Given the description of an element on the screen output the (x, y) to click on. 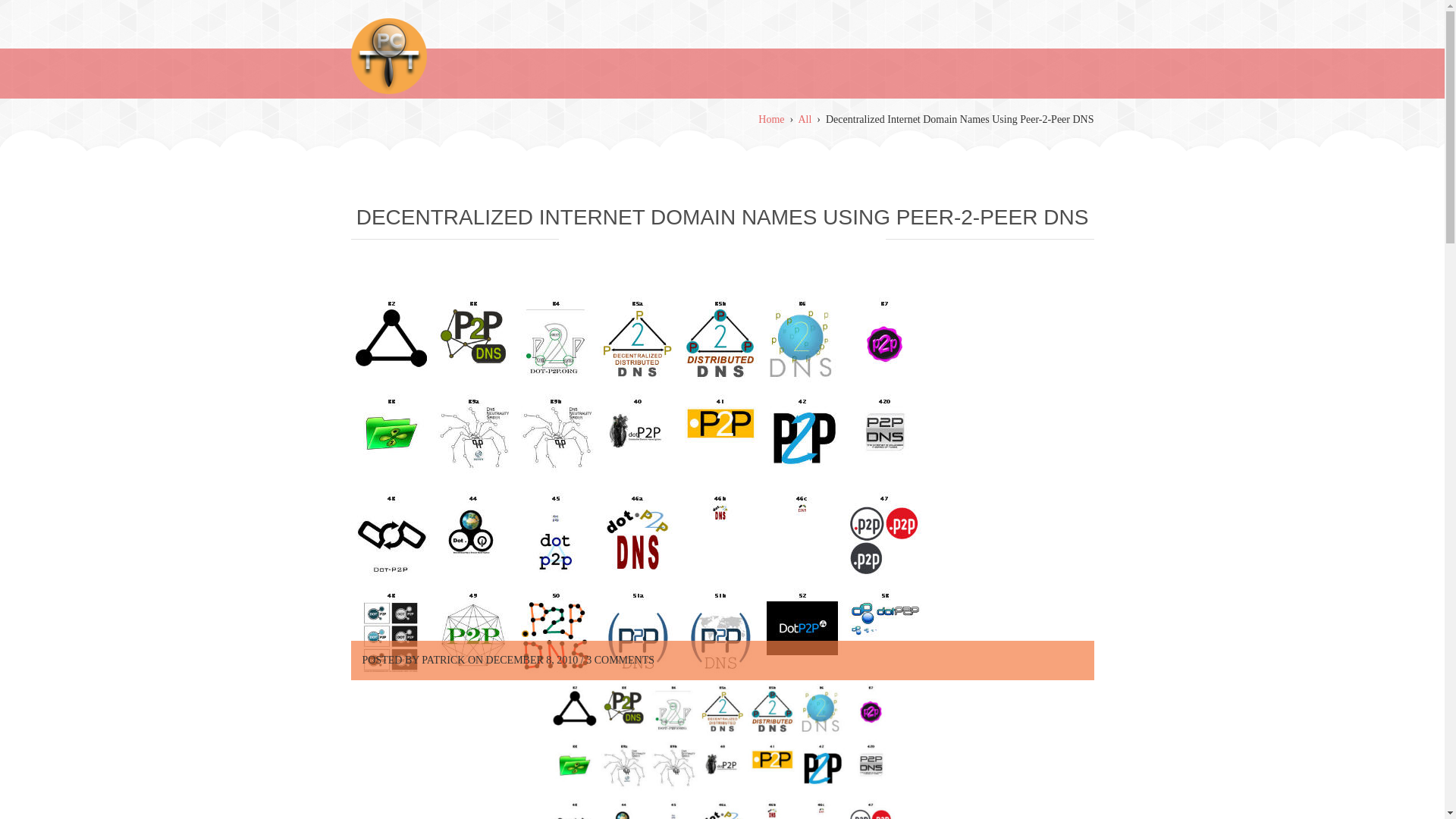
Home (771, 119)
All (803, 119)
dot-p2p-logos (722, 749)
